Given the description of an element on the screen output the (x, y) to click on. 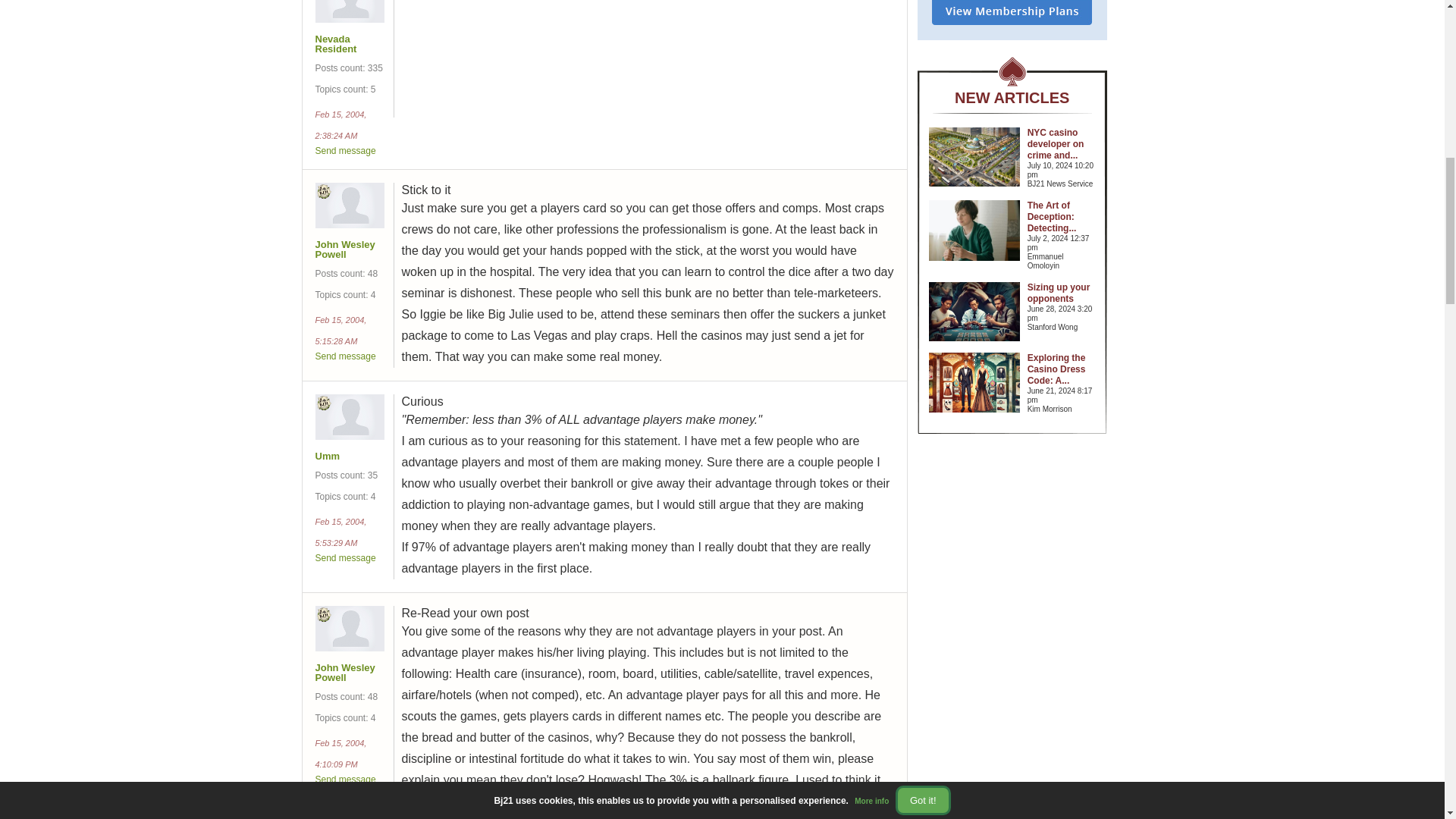
Kim Morrison (1061, 409)
Emmanuel Omoloyin (1061, 261)
BJ21 News Service (1061, 184)
Sizing up your opponents (1058, 292)
Stanford Wong (1061, 327)
NYC casino developer on crime and traffic (1055, 143)
